Given the description of an element on the screen output the (x, y) to click on. 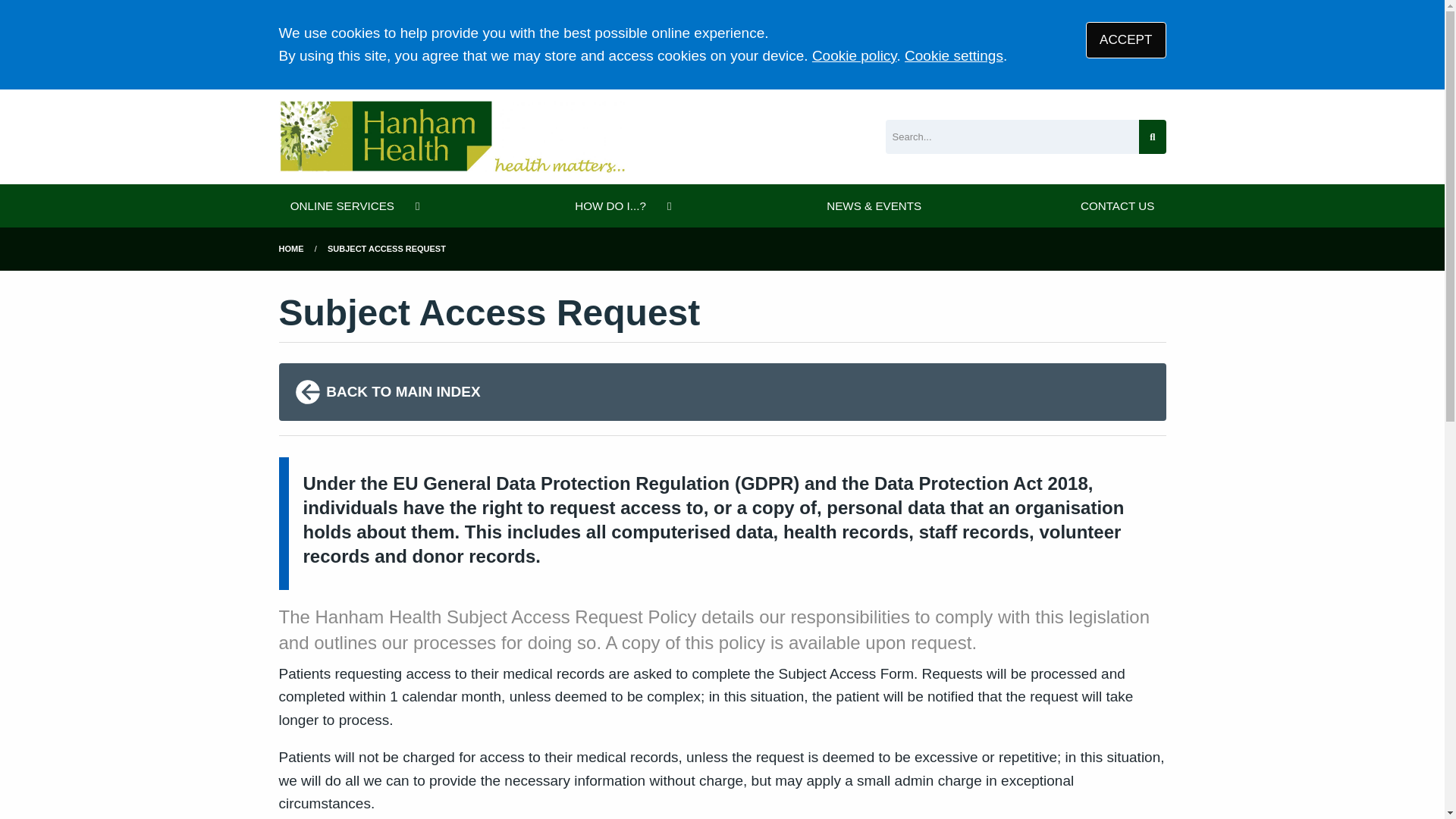
HOW DO I...? (621, 205)
CONTACT US (1117, 205)
HOME (291, 248)
Cookie policy (854, 55)
Cookie settings (953, 55)
SUBJECT ACCESS REQUEST (386, 248)
ACCEPT (1126, 39)
ONLINE SERVICES (353, 205)
BACK TO MAIN INDEX (722, 391)
